Given the description of an element on the screen output the (x, y) to click on. 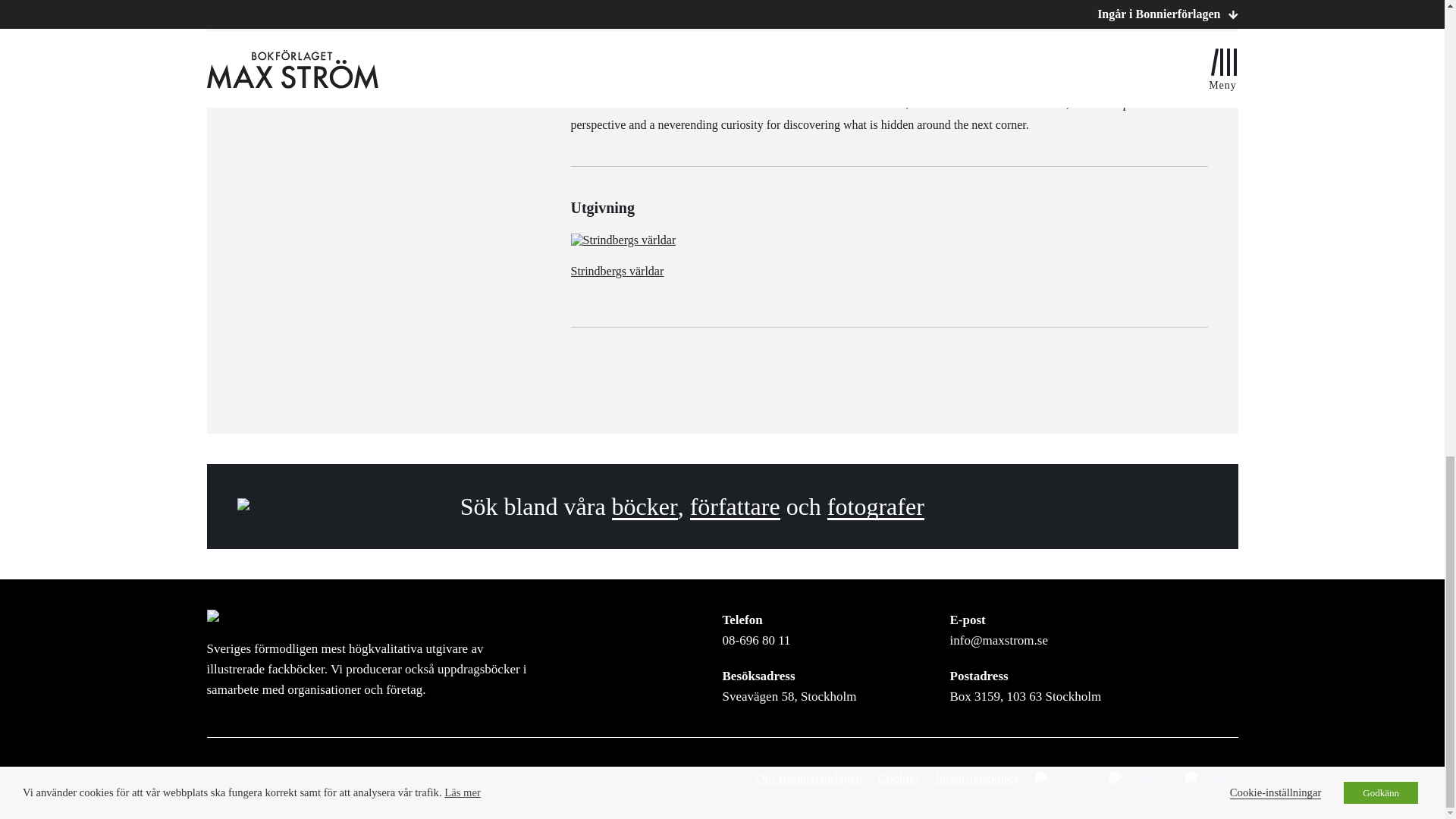
fotografer (875, 506)
Cookies (898, 778)
Integritetspolicy (976, 778)
